Given the description of an element on the screen output the (x, y) to click on. 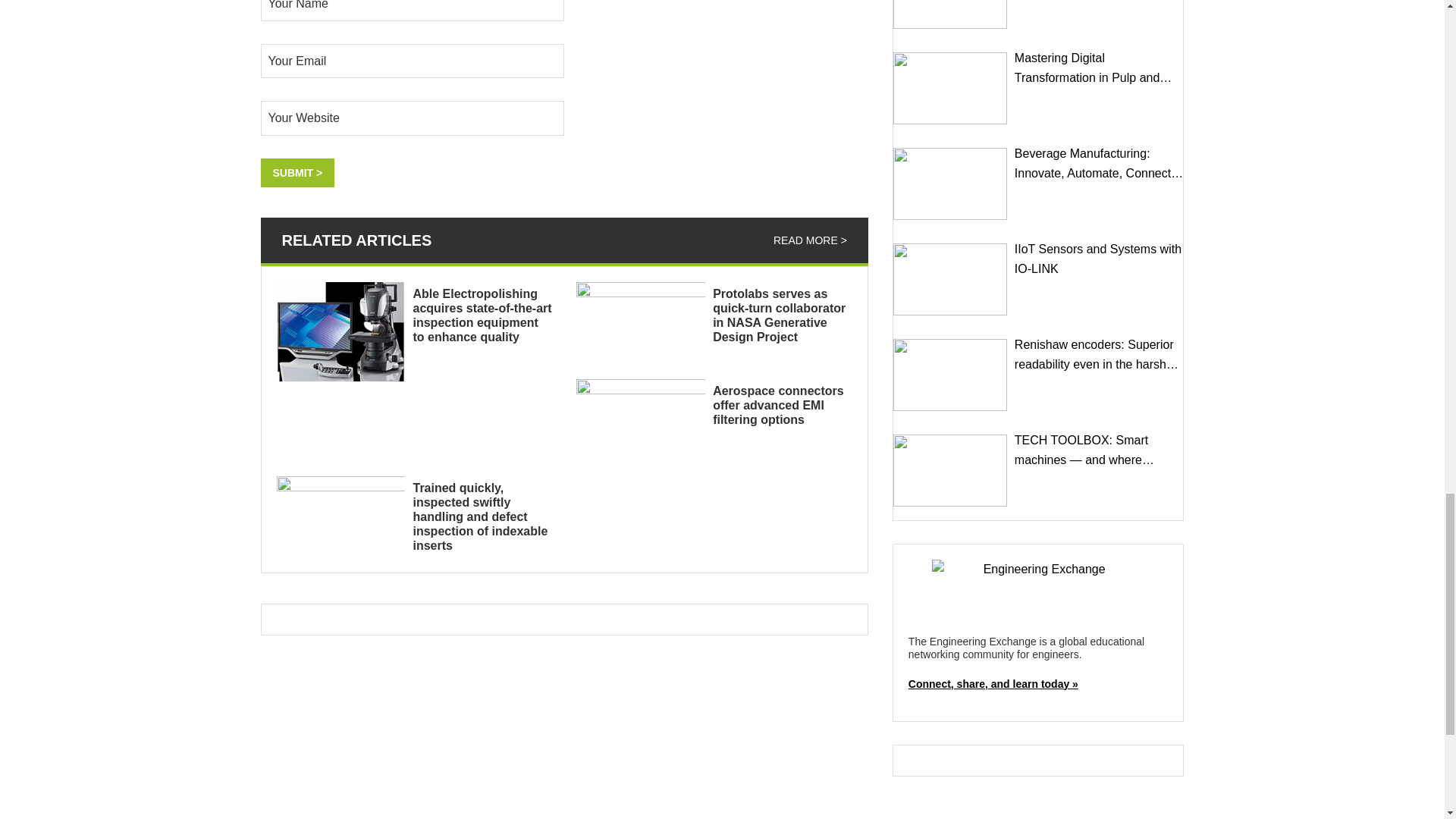
Turnkey Mechatronics Complete Challenging Designs (950, 14)
Mastering Digital Transformation in Pulp and Paper (950, 88)
IIoT Sensors and Systems with IO-LINK (950, 279)
Beverage Manufacturing: Innovate, Automate, Connect, Grow (950, 184)
